Given the description of an element on the screen output the (x, y) to click on. 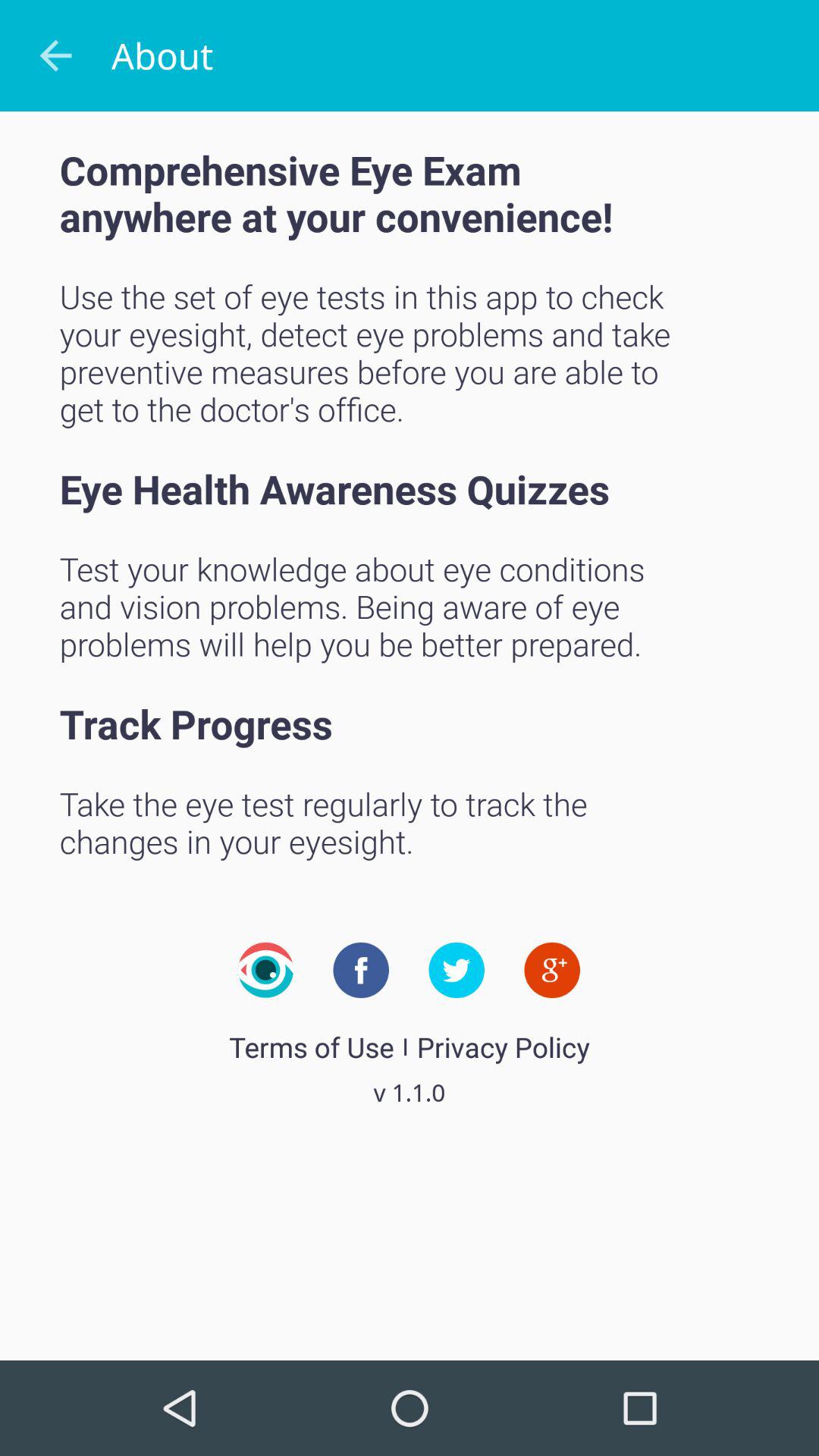
open the privacy policy (502, 1046)
